Given the description of an element on the screen output the (x, y) to click on. 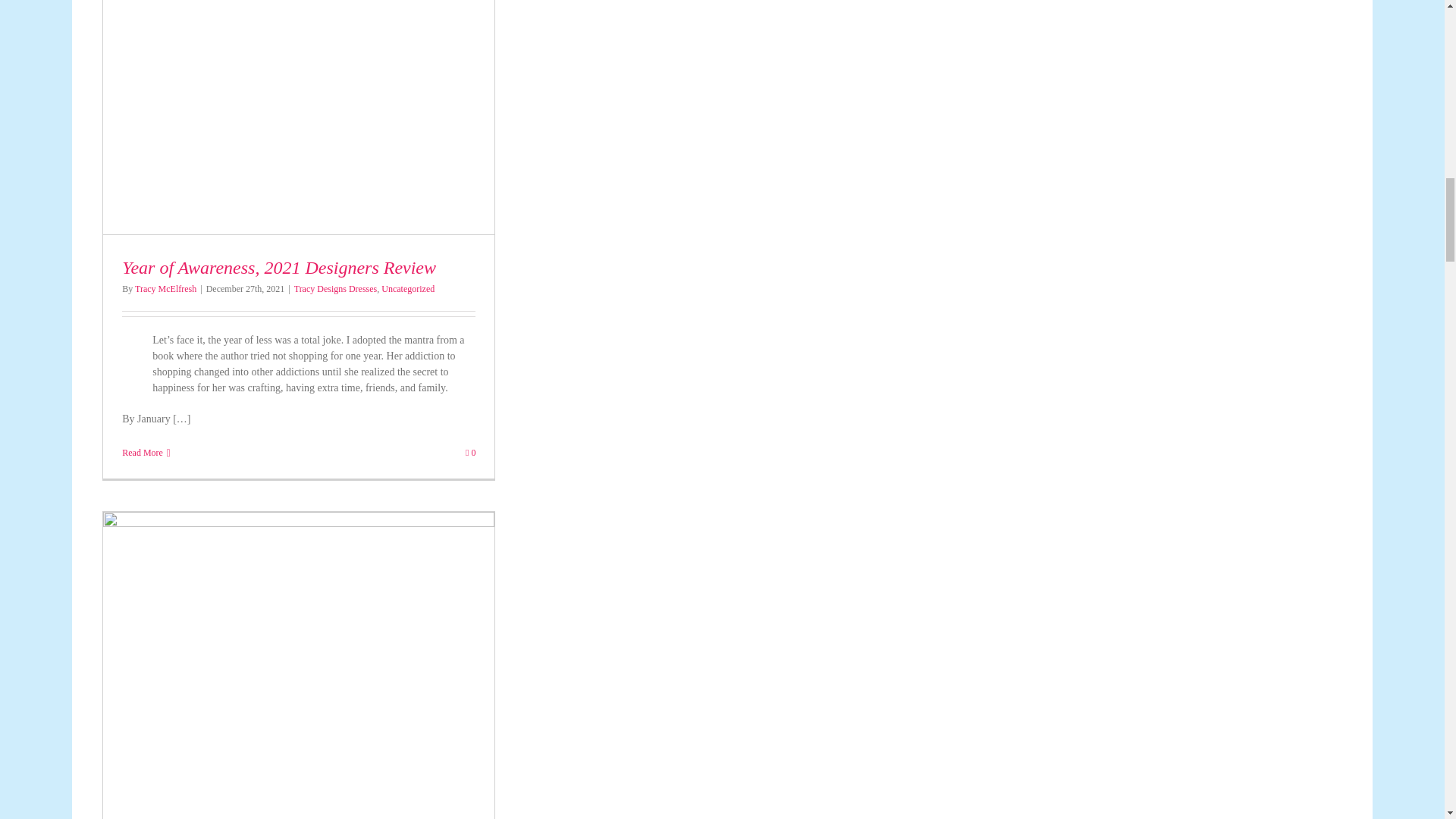
Posts by Tracy McElfresh (165, 288)
